Given the description of an element on the screen output the (x, y) to click on. 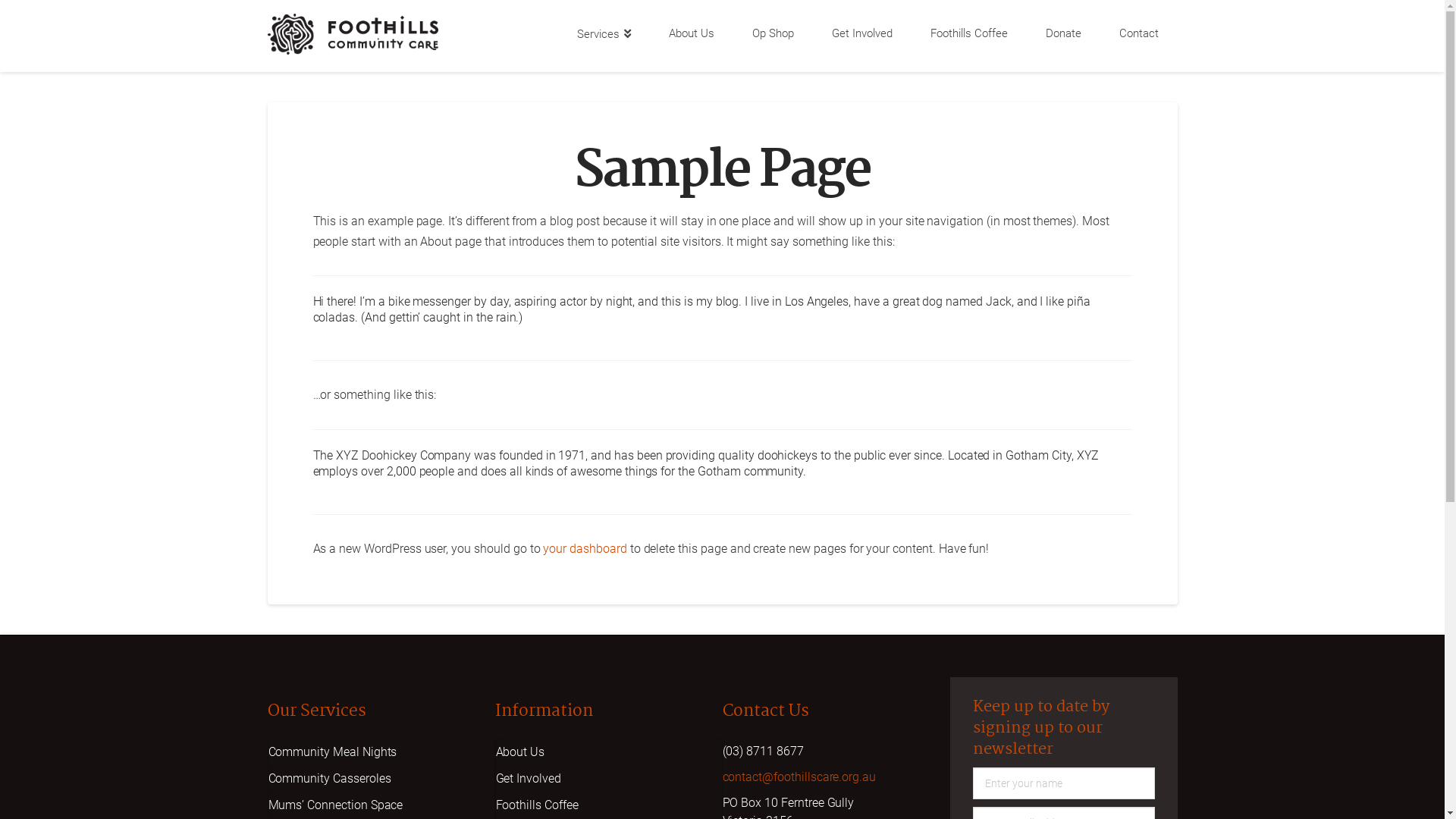
About Us Element type: text (608, 752)
Contact Element type: text (1137, 36)
Community Meal Nights Element type: text (381, 752)
About Us Element type: text (690, 36)
Get Involved Element type: text (608, 778)
Community Casseroles Element type: text (381, 778)
Op Shop Element type: text (772, 36)
your dashboard Element type: text (584, 548)
Donate Element type: text (1063, 36)
Foothills Coffee Element type: text (968, 36)
contact@foothillscare.org.au Element type: text (798, 776)
Services Element type: text (603, 36)
Get Involved Element type: text (861, 36)
